Given the description of an element on the screen output the (x, y) to click on. 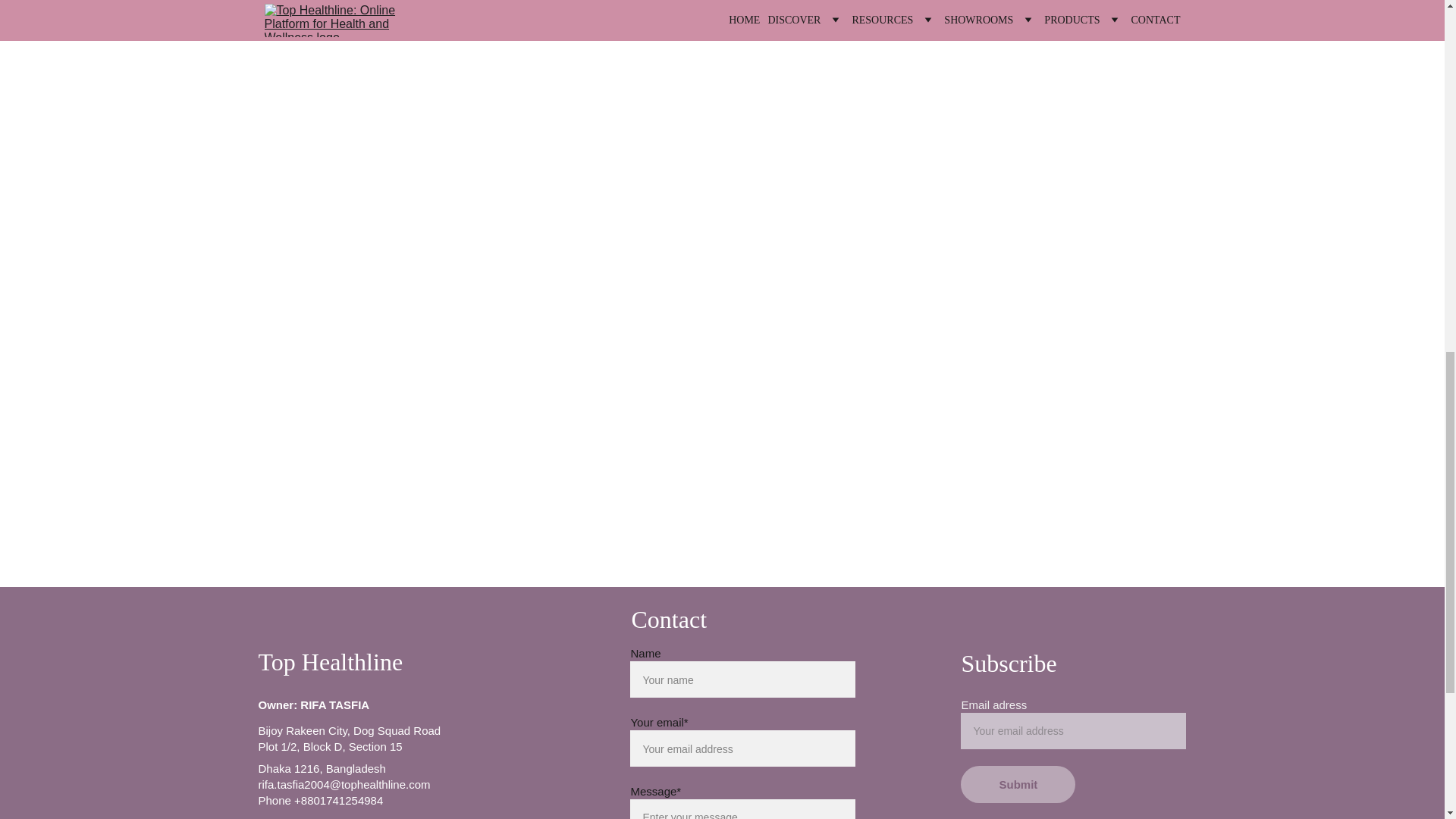
Submit (1017, 784)
